Given the description of an element on the screen output the (x, y) to click on. 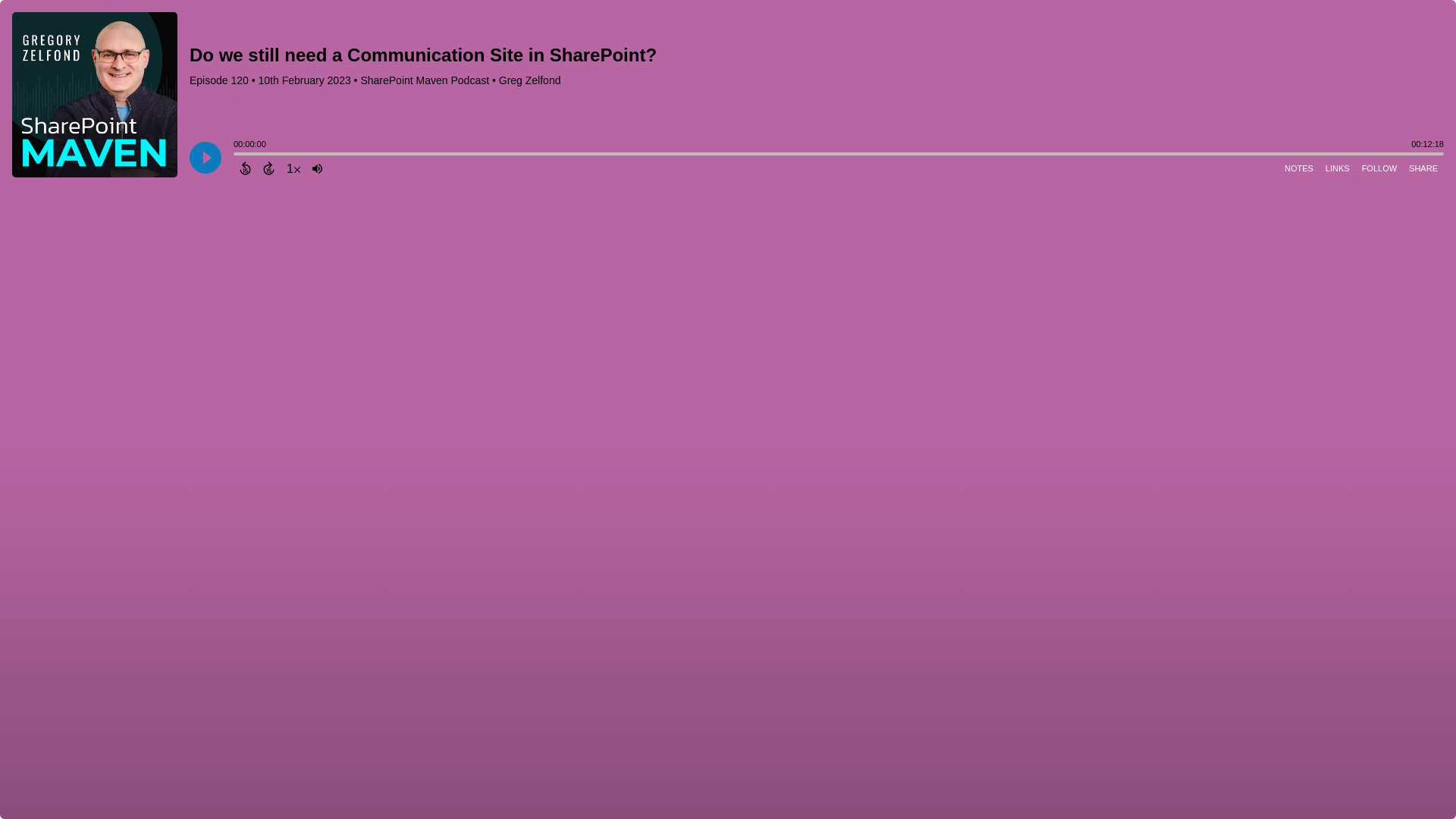
FOLLOW (1379, 167)
NOTES (1298, 167)
SHARE (1423, 167)
1 (293, 167)
LINKS (1337, 167)
